Given the description of an element on the screen output the (x, y) to click on. 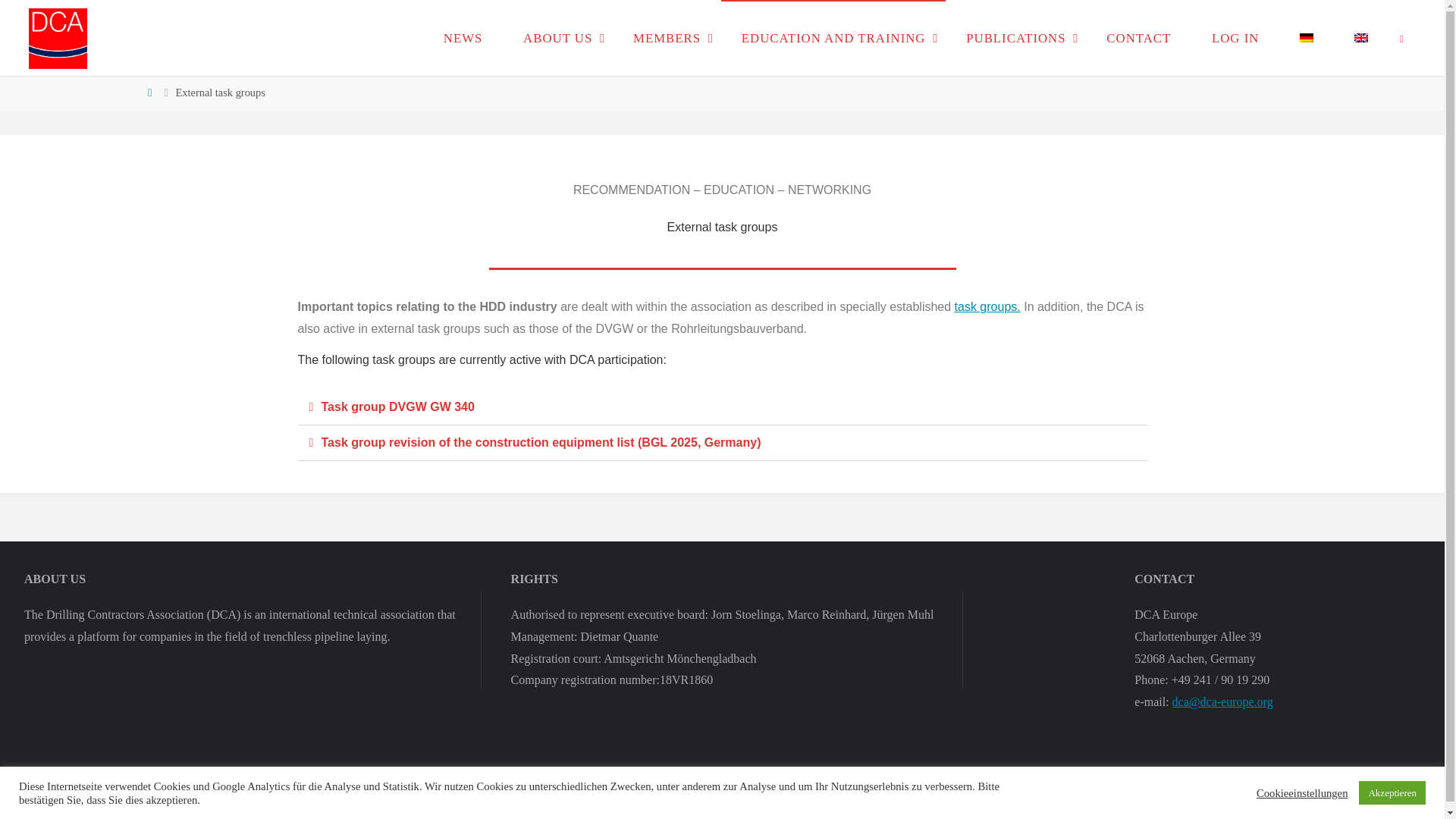
Fluida WordPress Theme by Cryout Creations (1341, 789)
Semantic Personal Publishing Platform (1395, 789)
DCA Europe (58, 37)
